Given the description of an element on the screen output the (x, y) to click on. 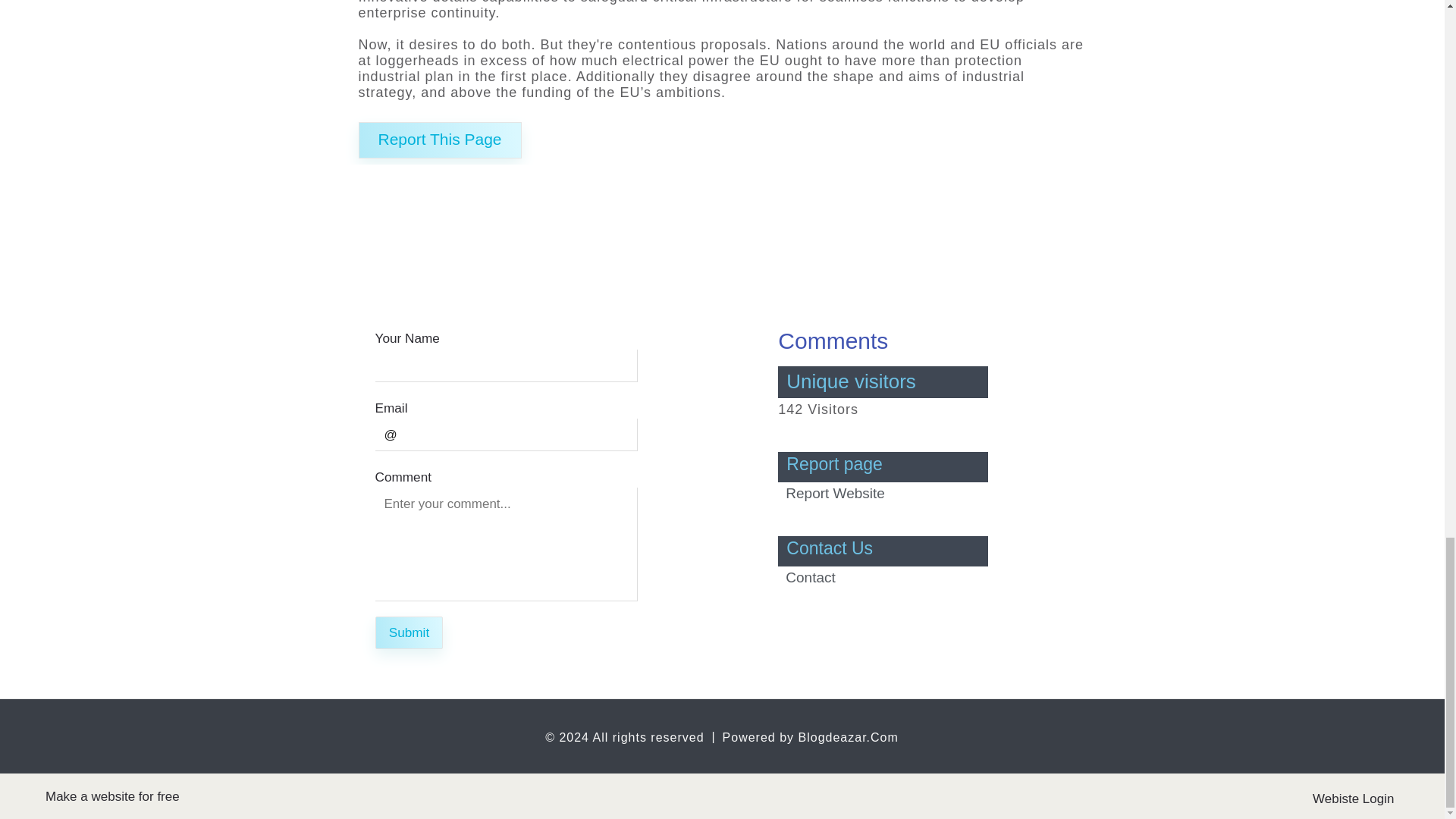
Make a website for free (112, 796)
Blogdeazar.Com (847, 737)
Contact (810, 577)
Report Website (835, 493)
Webiste Login (1367, 795)
Report This Page (439, 140)
Submit (408, 632)
